Given the description of an element on the screen output the (x, y) to click on. 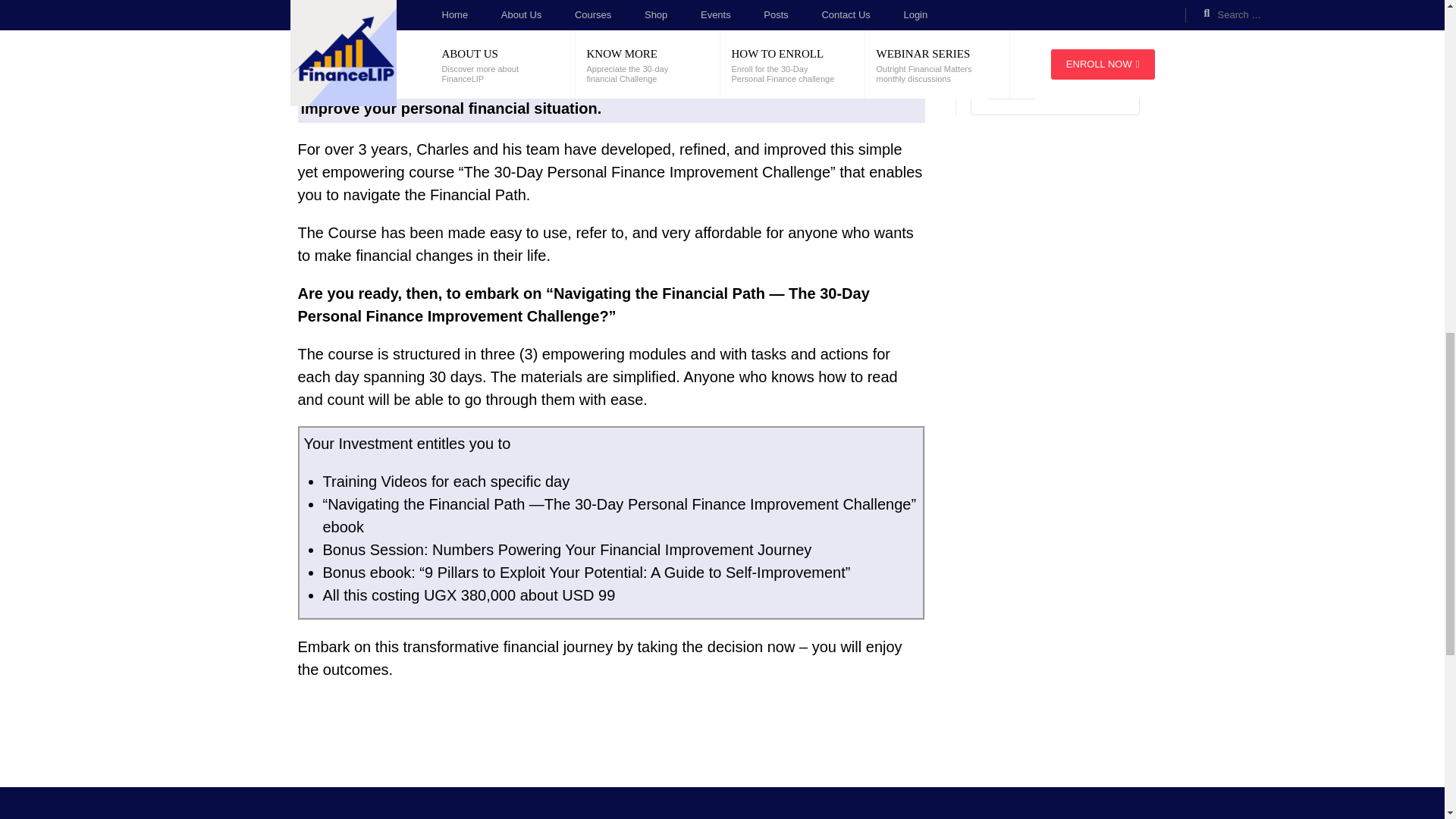
Webinar (1011, 88)
